Given the description of an element on the screen output the (x, y) to click on. 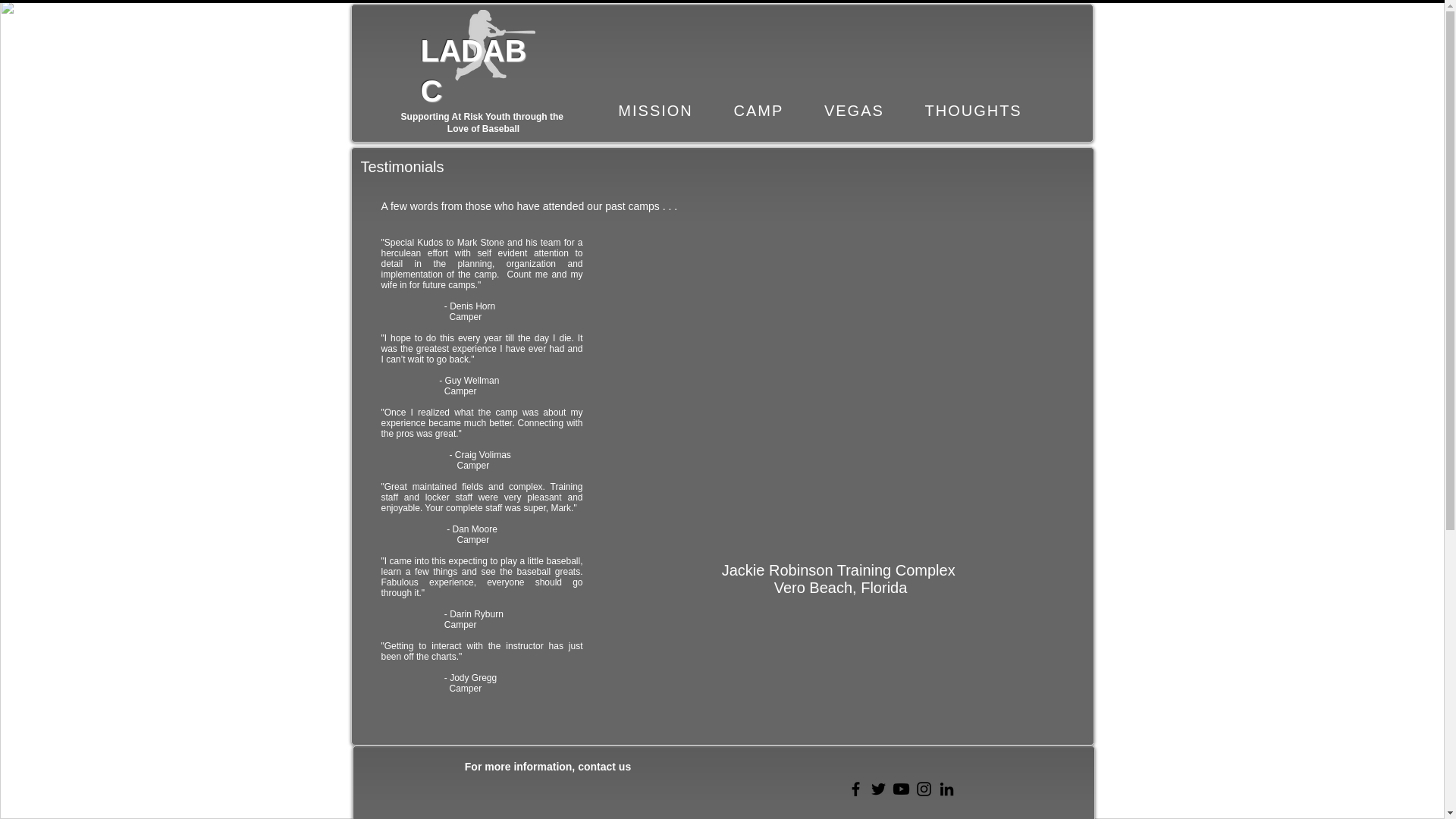
CAMP (758, 111)
THOUGHTS (973, 111)
VEGAS (853, 111)
MISSION (654, 111)
External YouTube (843, 374)
LADABC (472, 71)
